Given the description of an element on the screen output the (x, y) to click on. 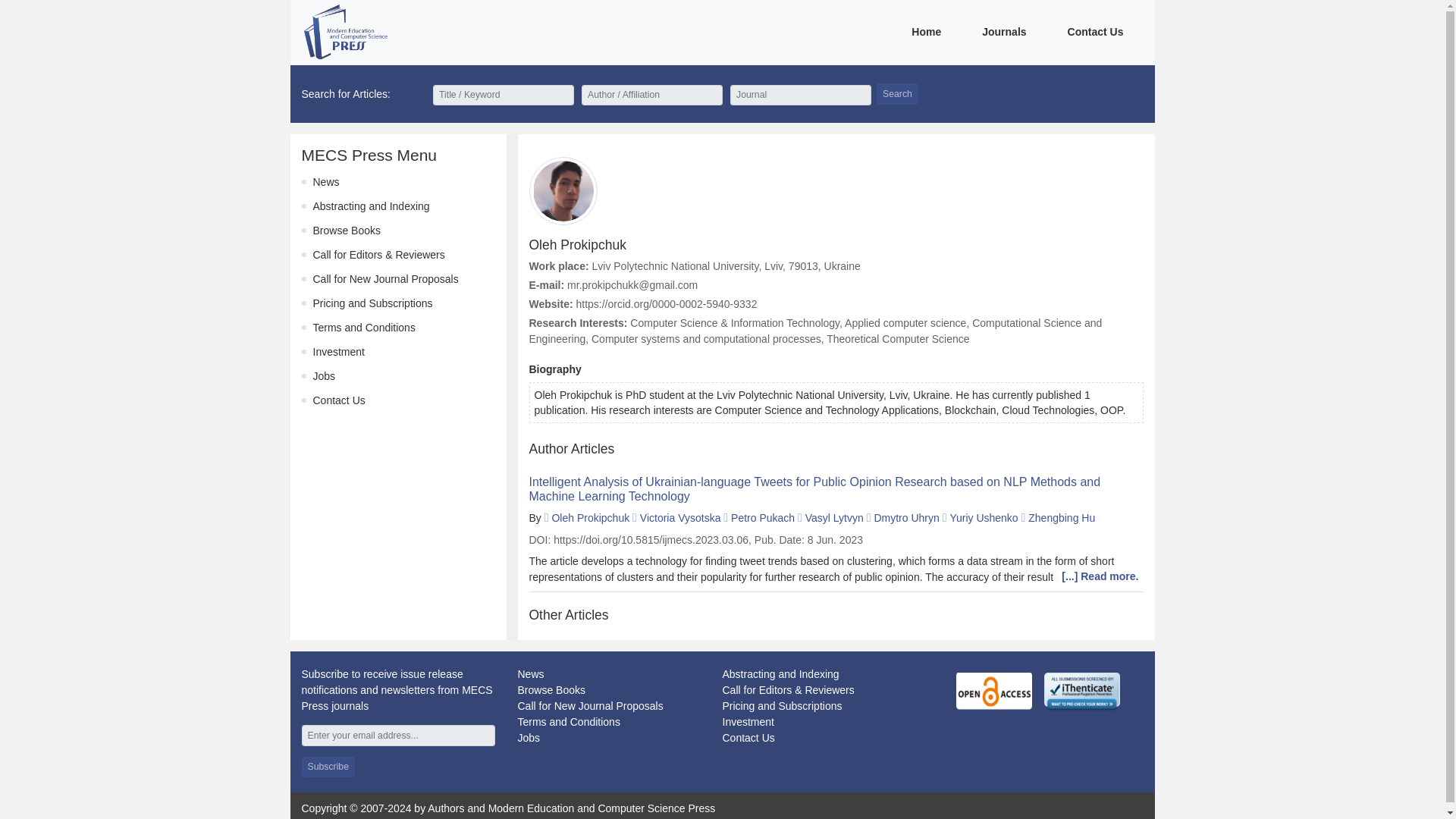
Dmytro Uhryn (906, 517)
Yuriy Ushenko (983, 517)
Browse Books (346, 230)
Pricing and Subscriptions (781, 705)
Search (897, 93)
News (326, 182)
Investment (338, 351)
Terms and Conditions (363, 327)
Vasyl Lytvyn (834, 517)
Oleh Prokipchuk (589, 517)
